Given the description of an element on the screen output the (x, y) to click on. 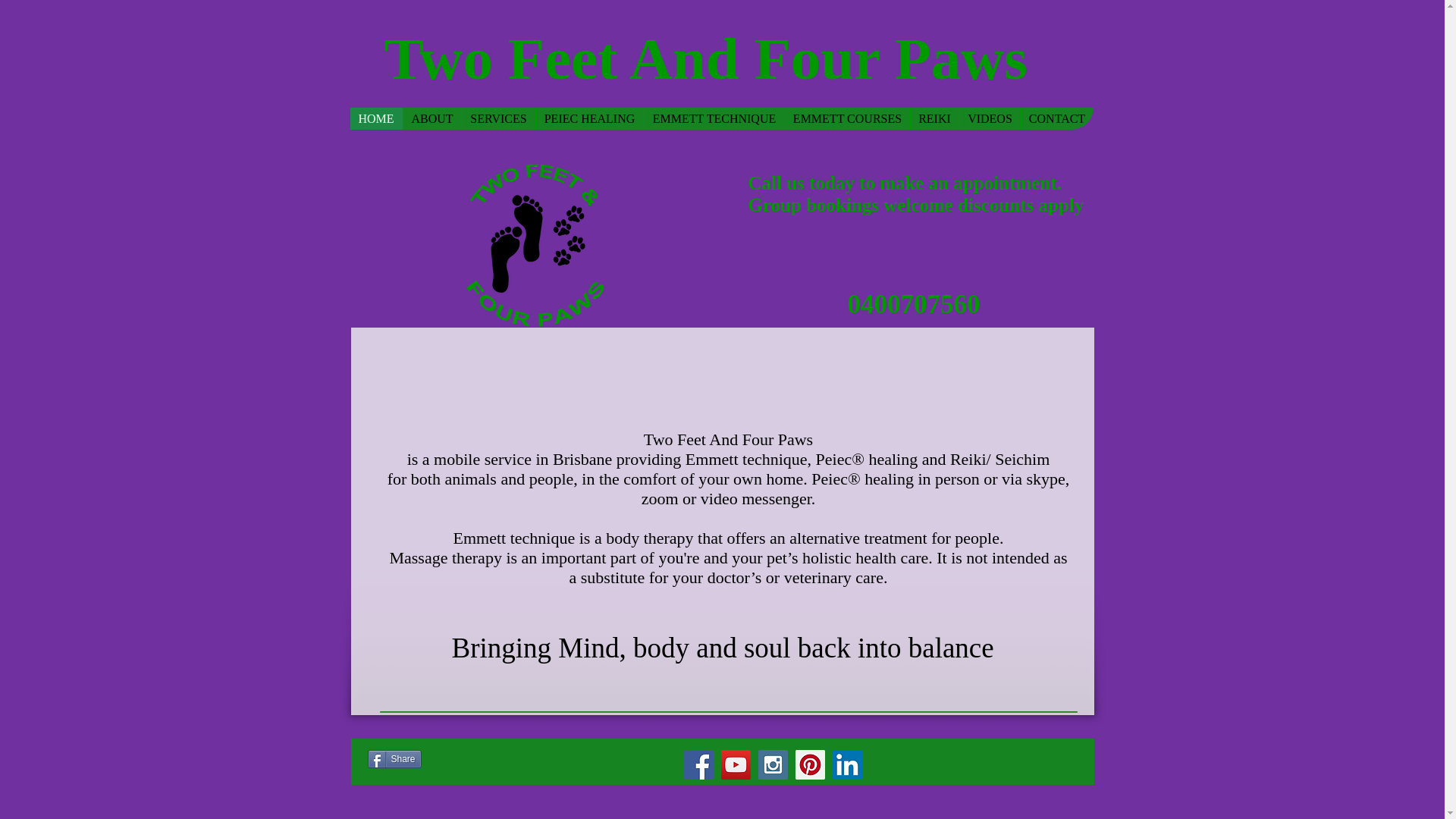
SERVICES (497, 118)
CONTACT (1056, 118)
two feet and four paws transparent.png (534, 245)
REIKI (934, 118)
Share (393, 759)
EMMETT COURSES (846, 118)
VIDEOS (989, 118)
EMMETT TECHNIQUE (713, 118)
Facebook Like (505, 761)
PEIEC HEALING (589, 118)
